Given the description of an element on the screen output the (x, y) to click on. 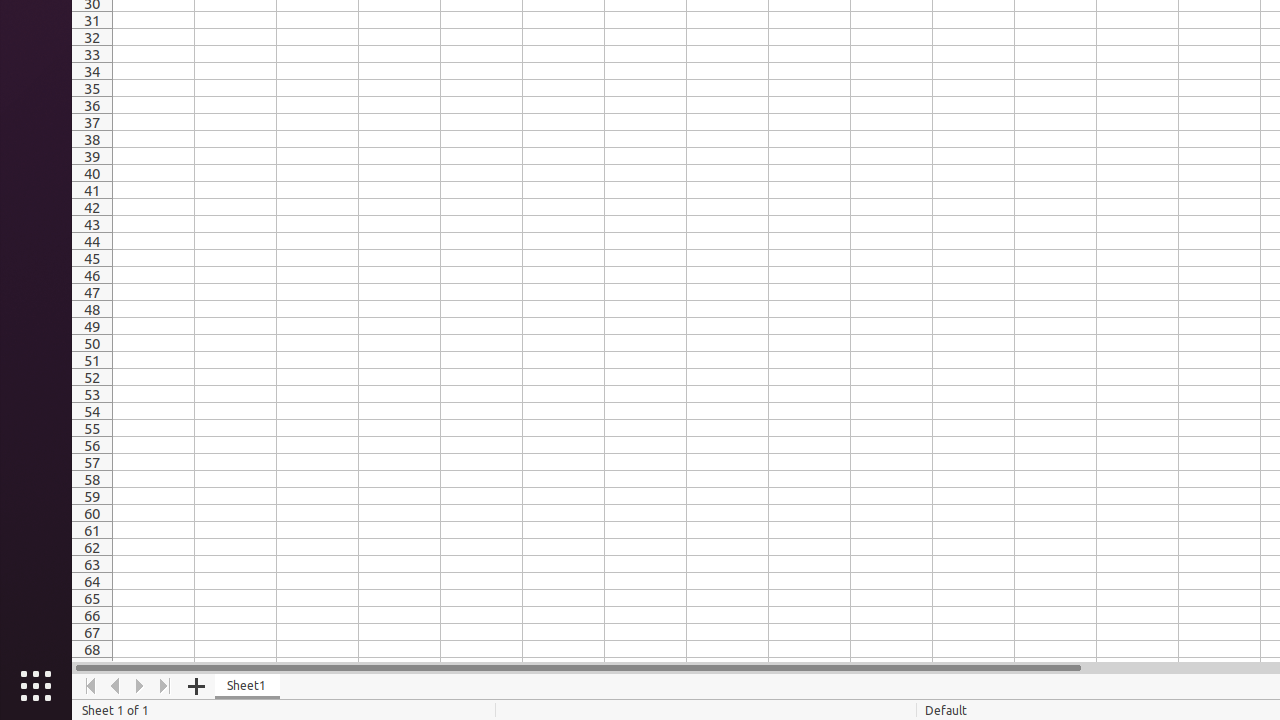
Move Left Element type: push-button (115, 686)
